Given the description of an element on the screen output the (x, y) to click on. 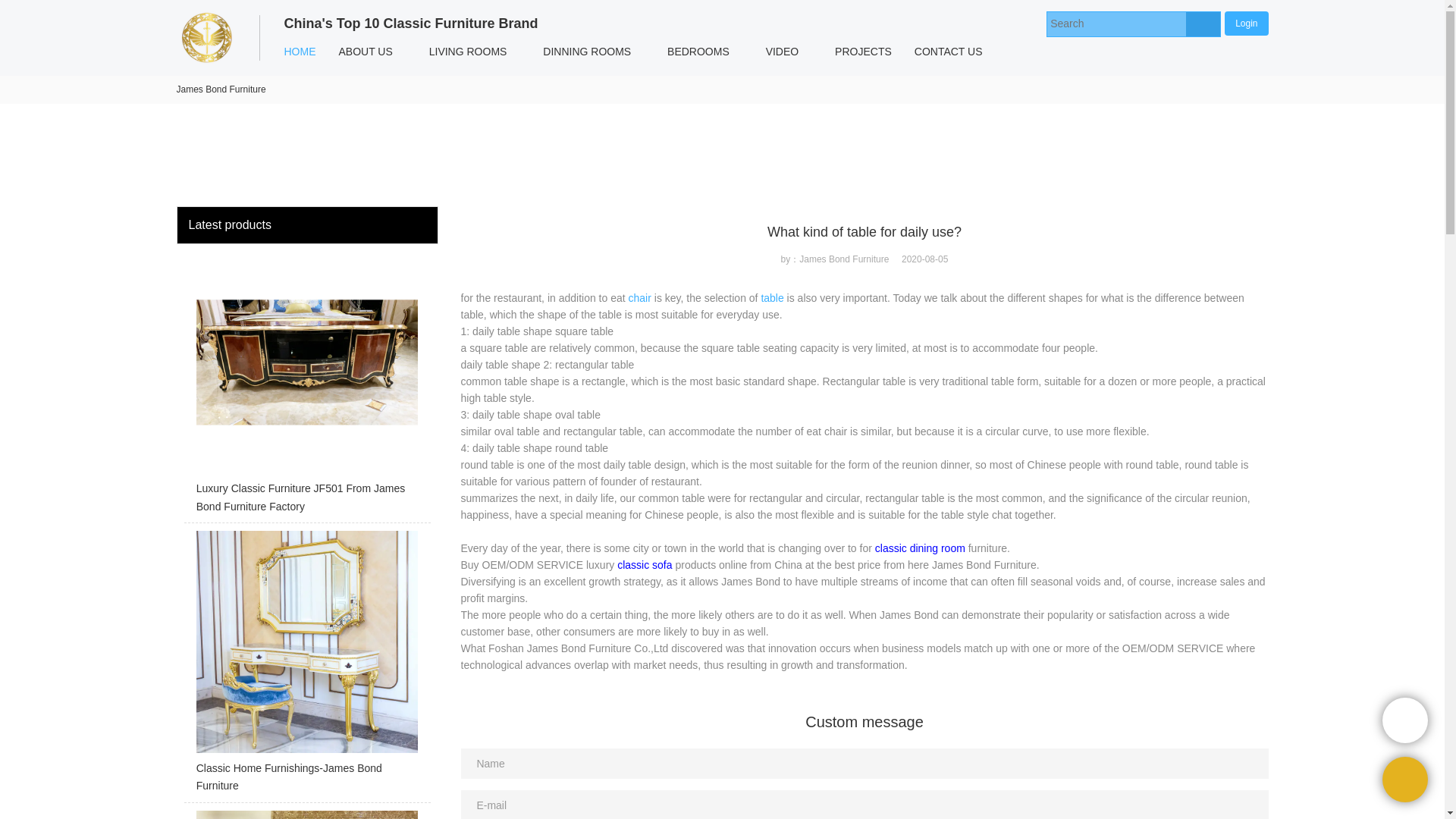
PROJECTS (863, 51)
Classic Home Furnishings-James Bond Furniture (306, 666)
James Bond Furniture (220, 89)
ABOUT US (365, 51)
HOME (300, 51)
VIDEO (782, 51)
CONTACT US (948, 51)
Login (1245, 23)
BEDROOMS (698, 51)
